Given the description of an element on the screen output the (x, y) to click on. 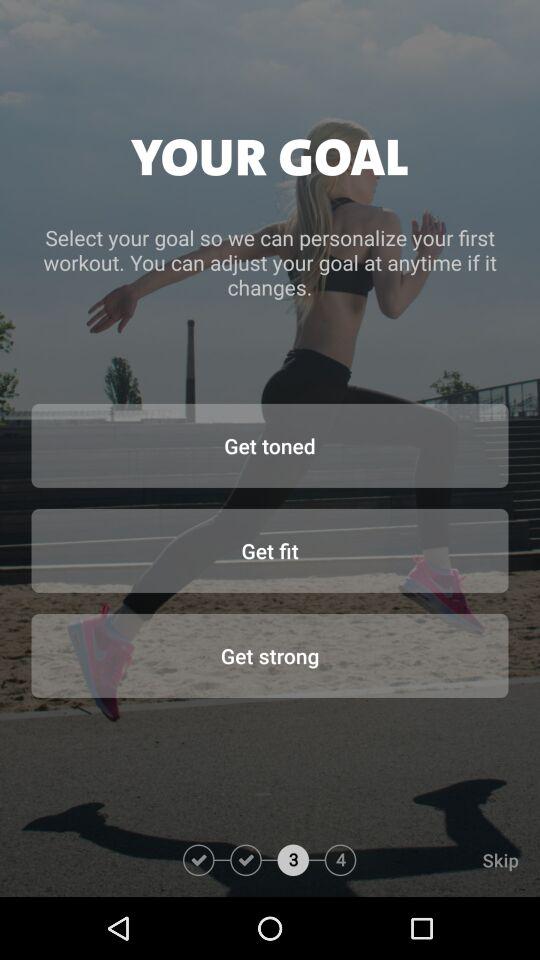
press item above get fit (269, 445)
